Given the description of an element on the screen output the (x, y) to click on. 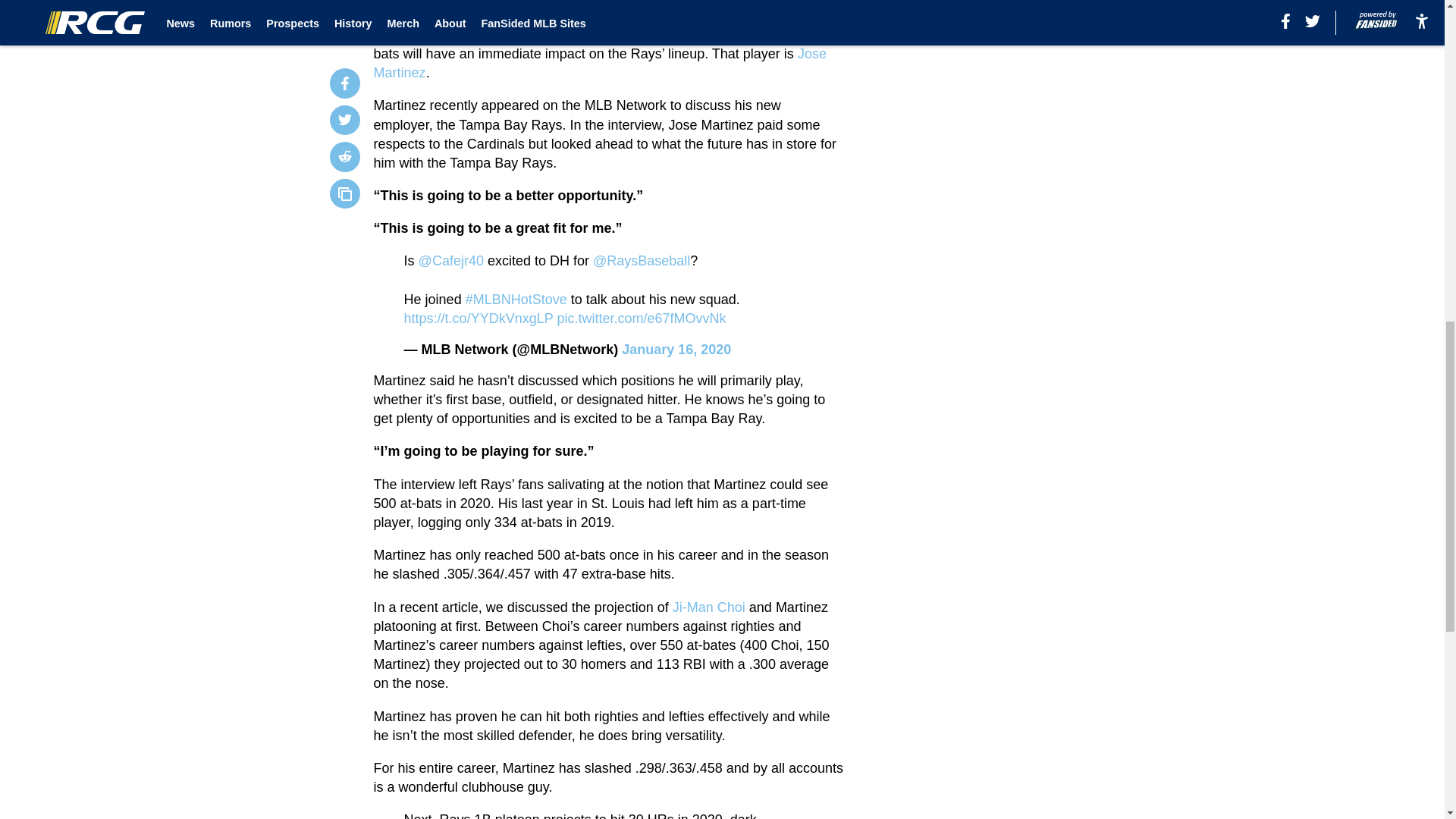
Jose Martinez (600, 62)
Ji-Man Choi (708, 607)
January 16, 2020 (675, 349)
Matthew Liberatore (578, 25)
Tampa Bay Rays (451, 15)
